Given the description of an element on the screen output the (x, y) to click on. 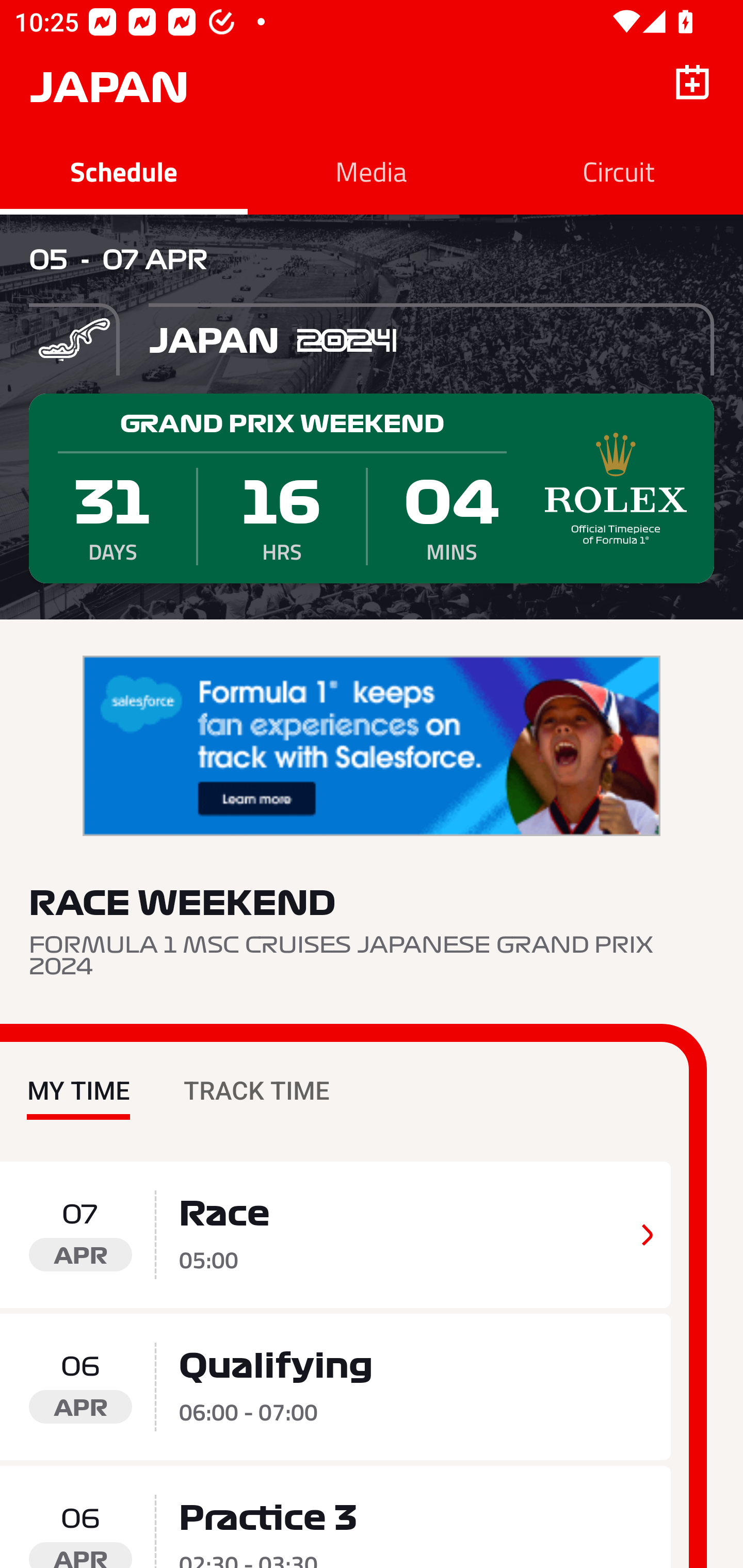
Media (371, 171)
Circuit (619, 171)
Advertisement (371, 746)
TRACK TIME (256, 1076)
07 APR April Race 05:00 (335, 1234)
